Given the description of an element on the screen output the (x, y) to click on. 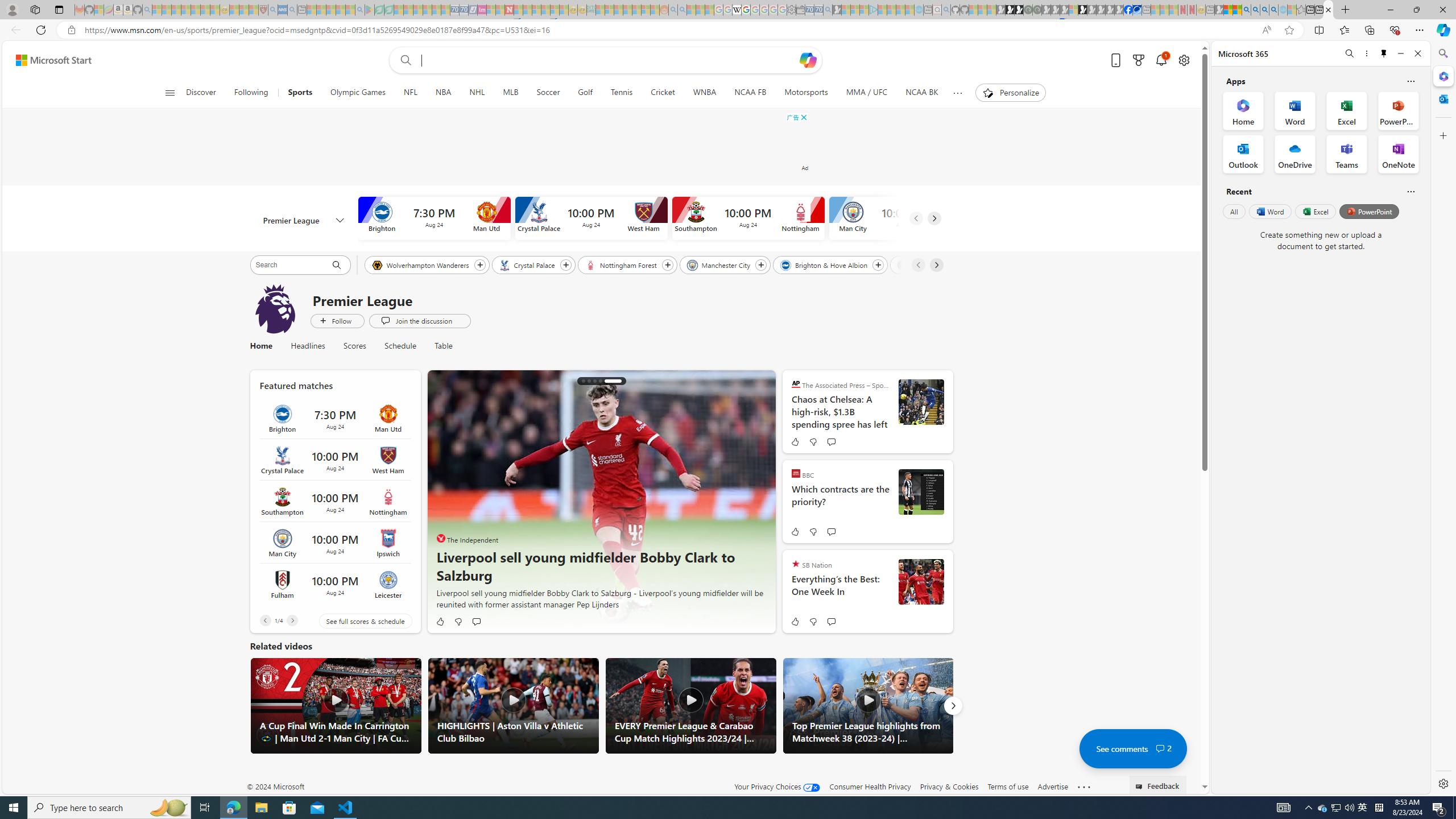
Headlines (307, 345)
Headlines (307, 345)
Home Office App (1243, 110)
